Given the description of an element on the screen output the (x, y) to click on. 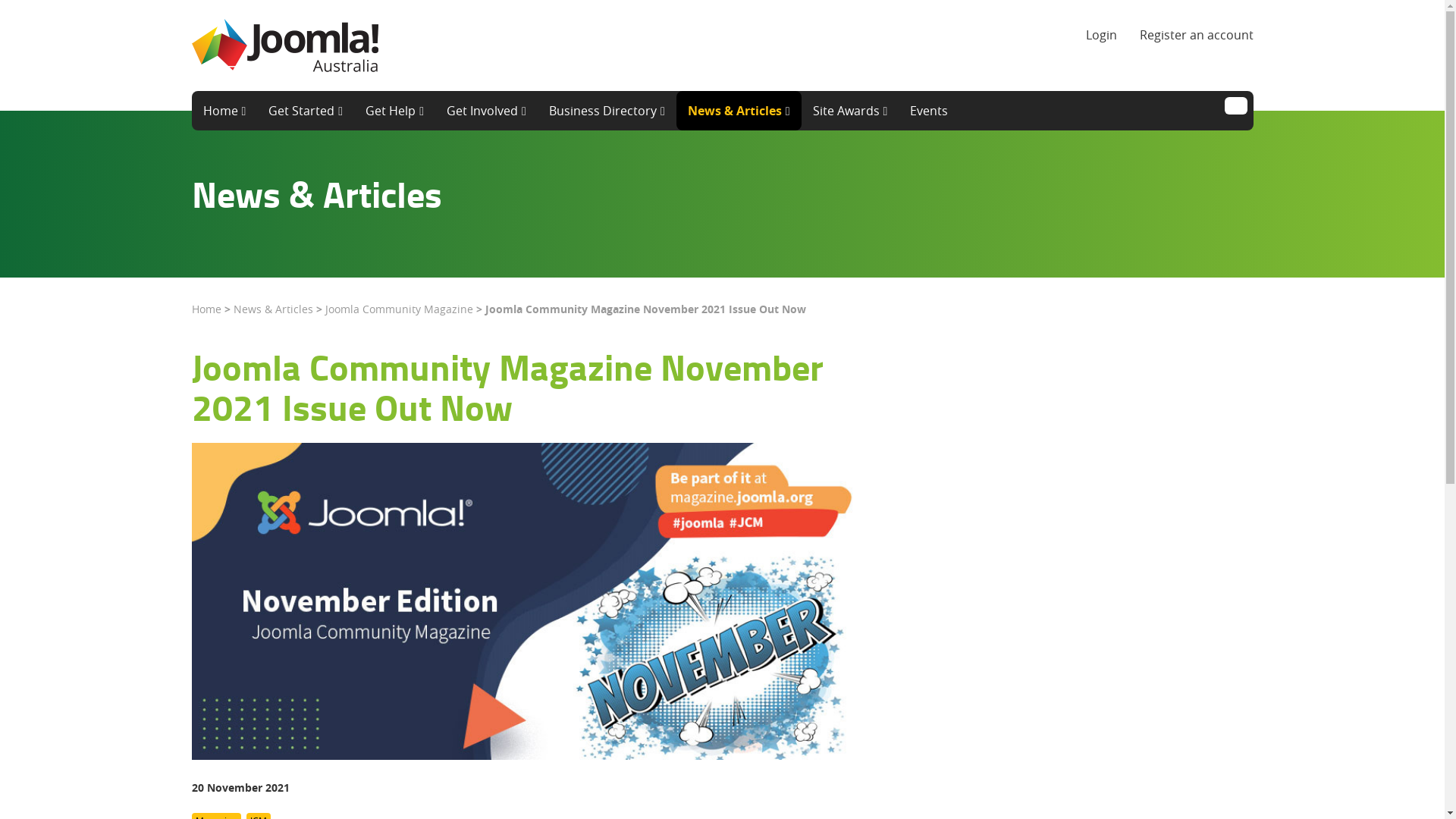
Joomla Community Magazine November 2021 Issue Out Now Element type: text (506, 386)
Home Element type: text (224, 110)
Site Awards Element type: text (850, 110)
Events Element type: text (928, 110)
News & Articles Element type: text (273, 308)
Search Element type: text (1234, 105)
Get Started Element type: text (305, 110)
Get Help Element type: text (394, 110)
Business Directory Element type: text (607, 110)
Home Element type: text (205, 308)
News & Articles Element type: text (738, 110)
Get Involved Element type: text (486, 110)
Joomla Community Magazine Element type: text (398, 308)
